Given the description of an element on the screen output the (x, y) to click on. 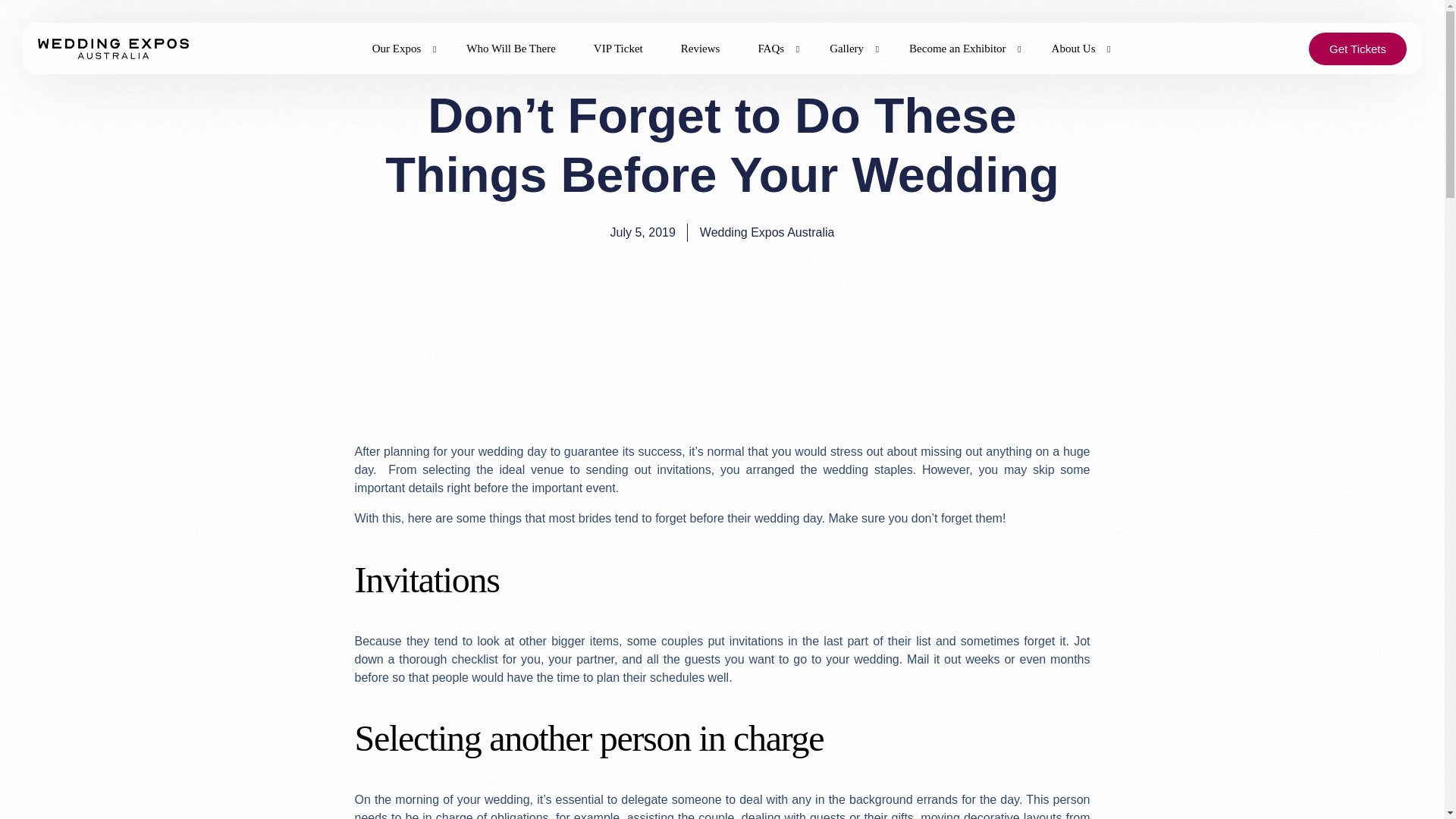
Our Expos (400, 48)
Gallery (849, 48)
Who Will Be There (510, 48)
FAQs (774, 48)
Reviews (700, 48)
VIP Ticket (618, 48)
